Given the description of an element on the screen output the (x, y) to click on. 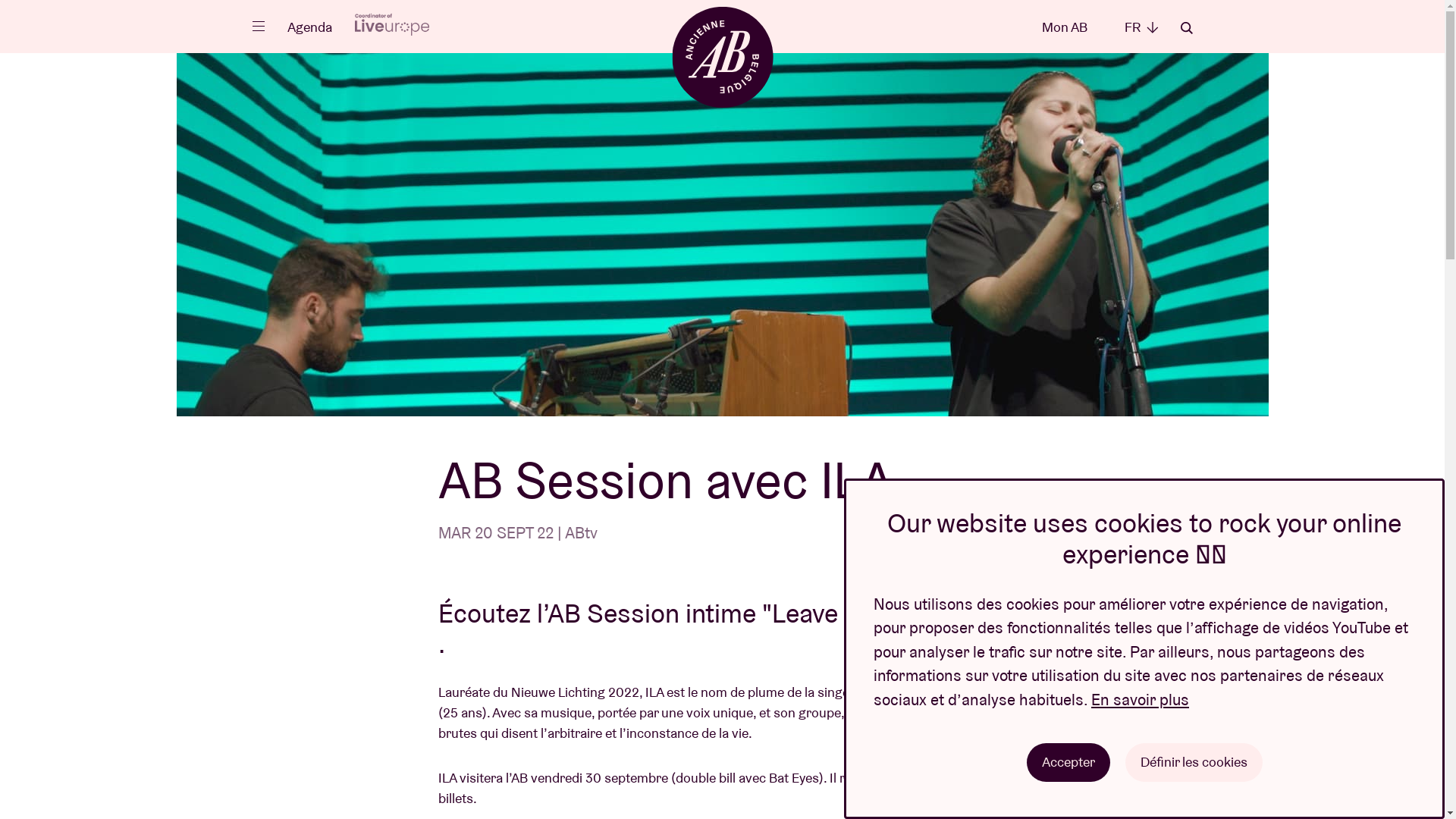
Infos visiteurs Element type: text (413, 325)
Fermer Element type: text (281, 26)
Presse Element type: text (765, 380)
Accepter Element type: text (1068, 762)
Agenda Element type: text (339, 137)
Mon AB Element type: text (1064, 26)
Rechercher Element type: text (1185, 27)
FR Element type: text (1140, 26)
Agenda Element type: text (308, 26)
Production technique Element type: text (841, 320)
Rechercher Element type: text (1185, 26)
En savoir plus Element type: text (1140, 699)
Business Element type: text (776, 261)
Contact Element type: text (769, 498)
Ancienne Belgique Element type: text (722, 56)
